Given the description of an element on the screen output the (x, y) to click on. 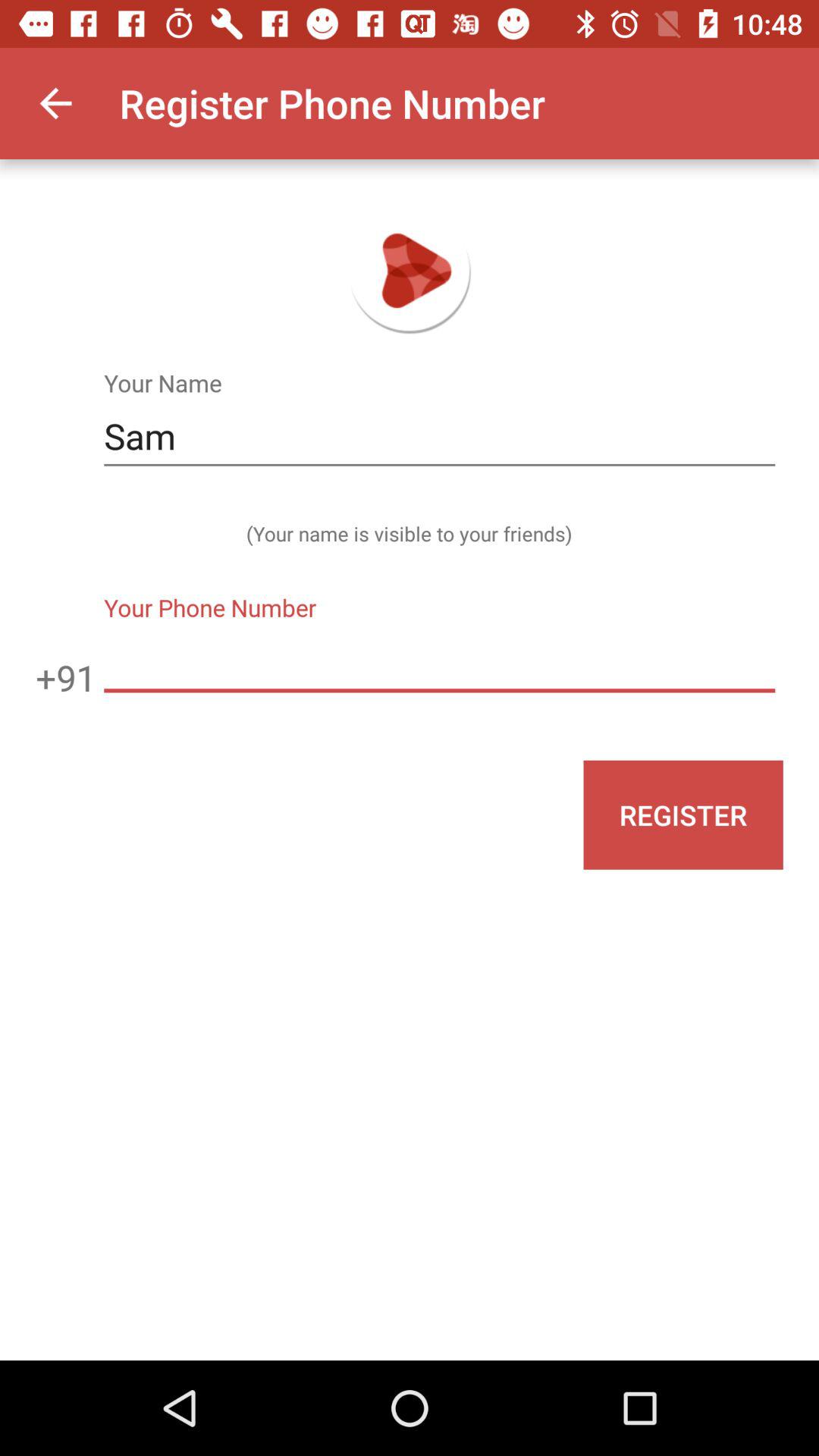
swipe to sam (439, 436)
